Given the description of an element on the screen output the (x, y) to click on. 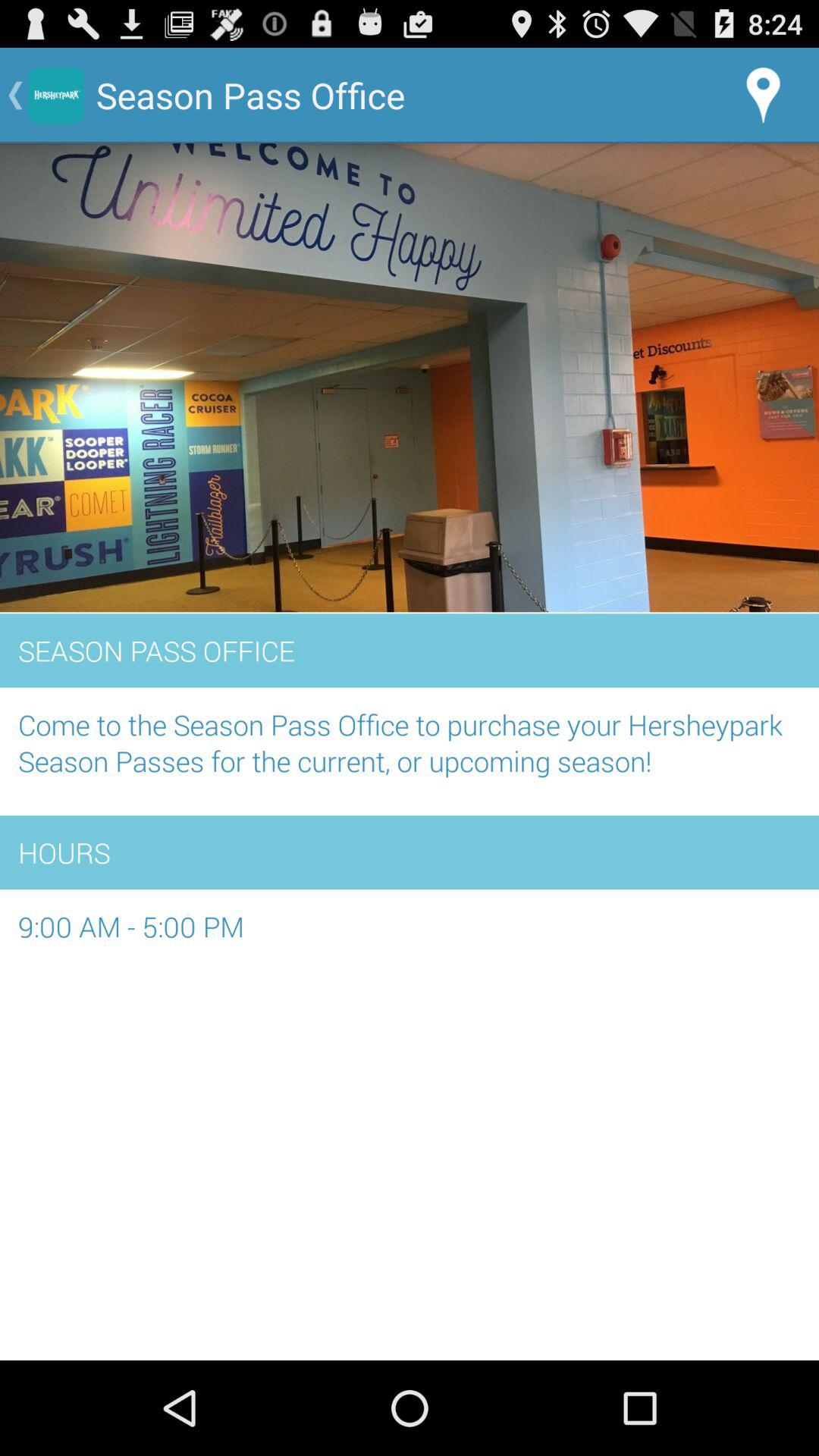
jump to come to the item (409, 751)
